Given the description of an element on the screen output the (x, y) to click on. 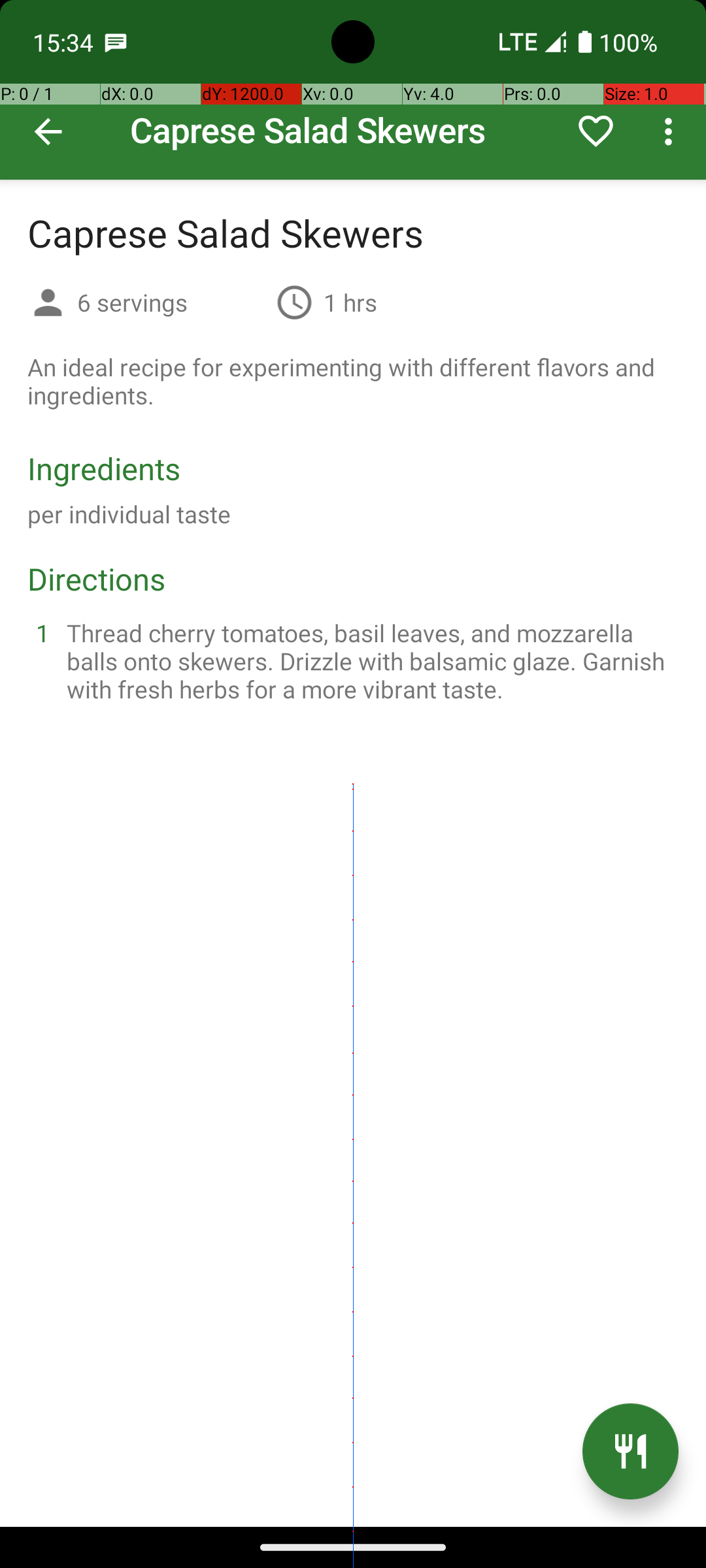
Thread cherry tomatoes, basil leaves, and mozzarella balls onto skewers. Drizzle with balsamic glaze. Garnish with fresh herbs for a more vibrant taste. Element type: android.widget.TextView (368, 660)
